Given the description of an element on the screen output the (x, y) to click on. 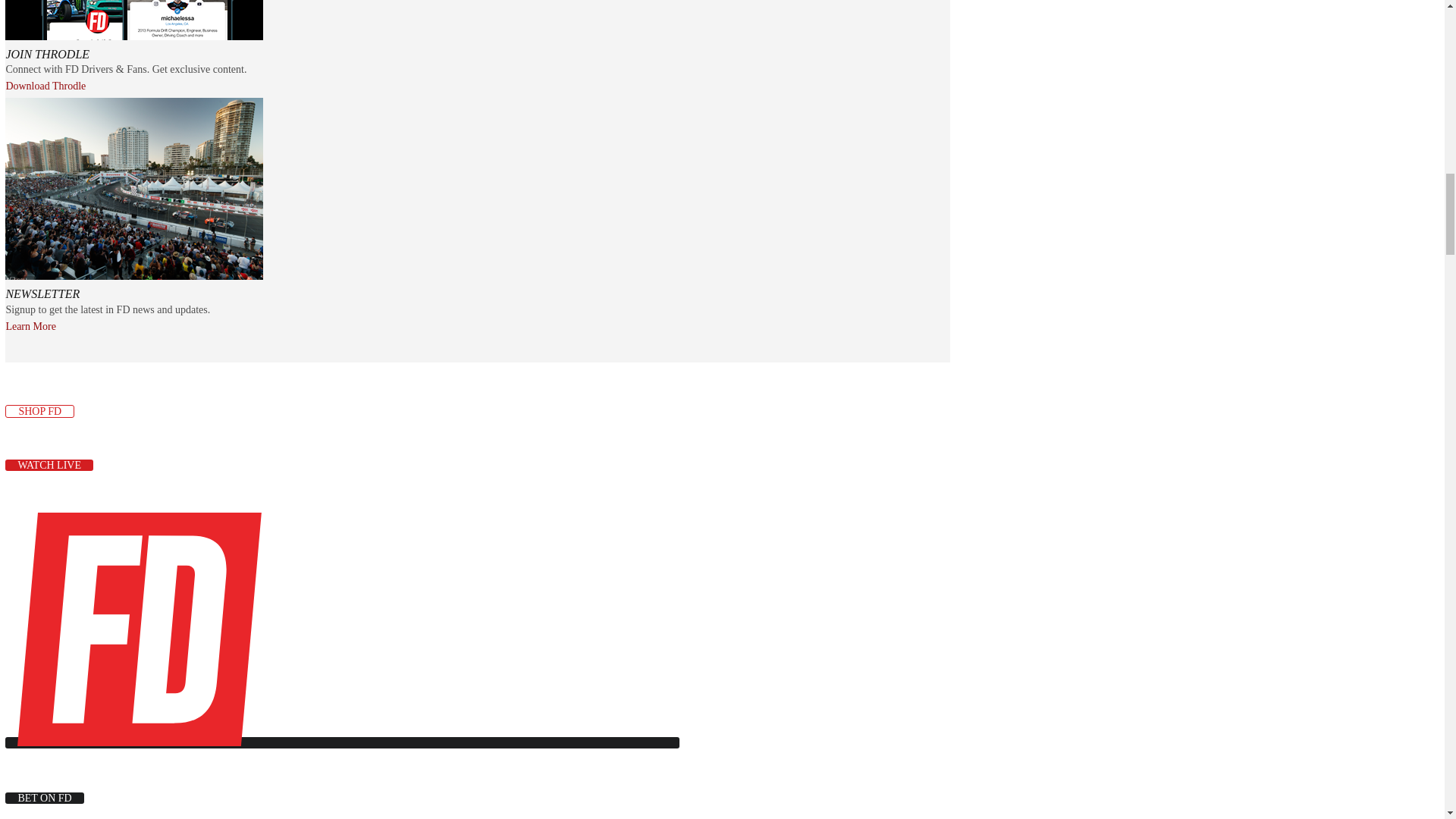
Learn More (30, 326)
BET ON FD (43, 797)
Download Throdle (45, 86)
WATCH LIVE (49, 464)
SHOP FD (39, 410)
